Given the description of an element on the screen output the (x, y) to click on. 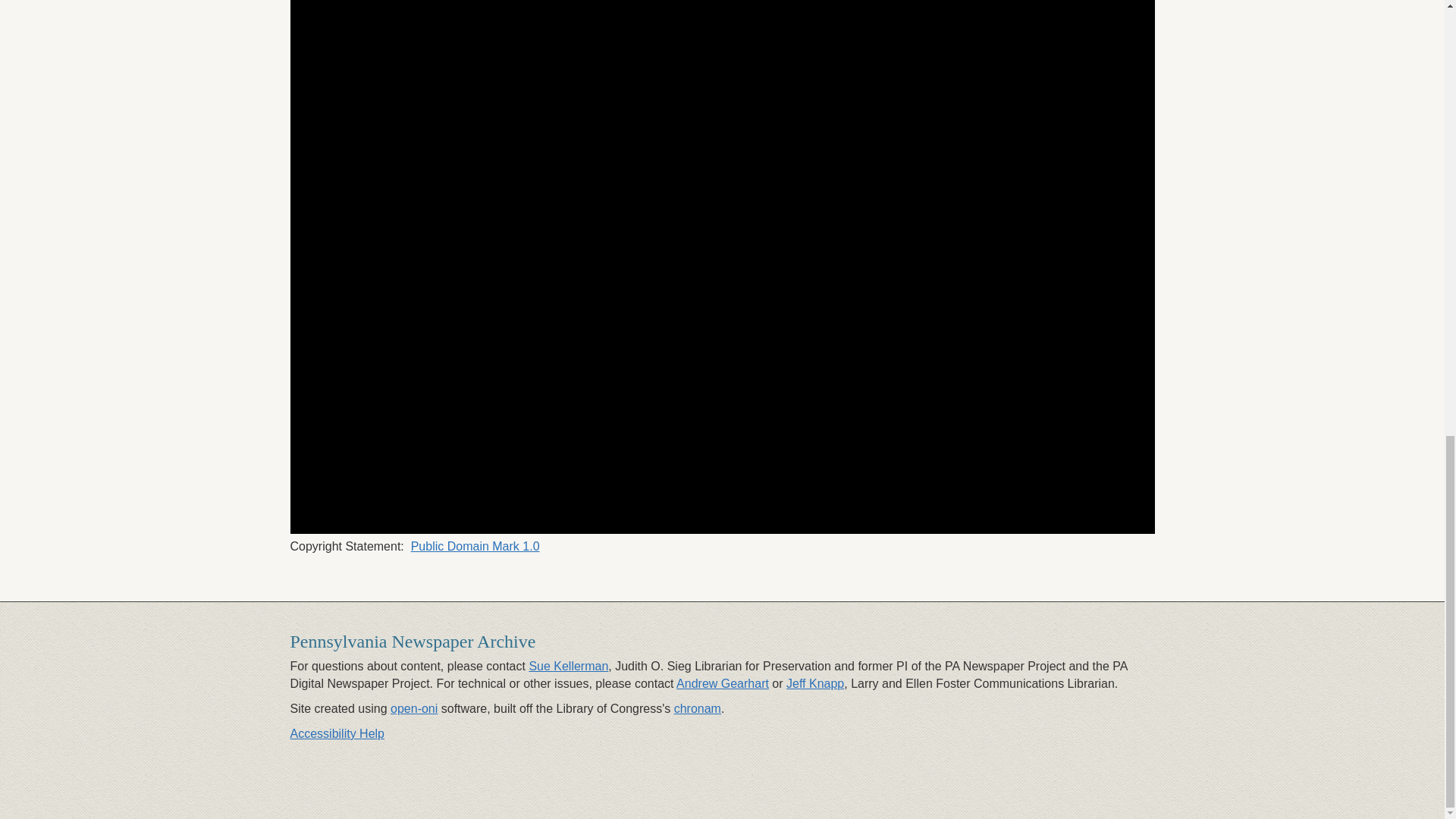
Jeff Knapp (815, 683)
Sue Kellerman (568, 666)
chronam (697, 707)
Andrew Gearhart (722, 683)
Accessibility Help (336, 733)
Public Domain Mark 1.0 (475, 545)
open-oni (414, 707)
